Given the description of an element on the screen output the (x, y) to click on. 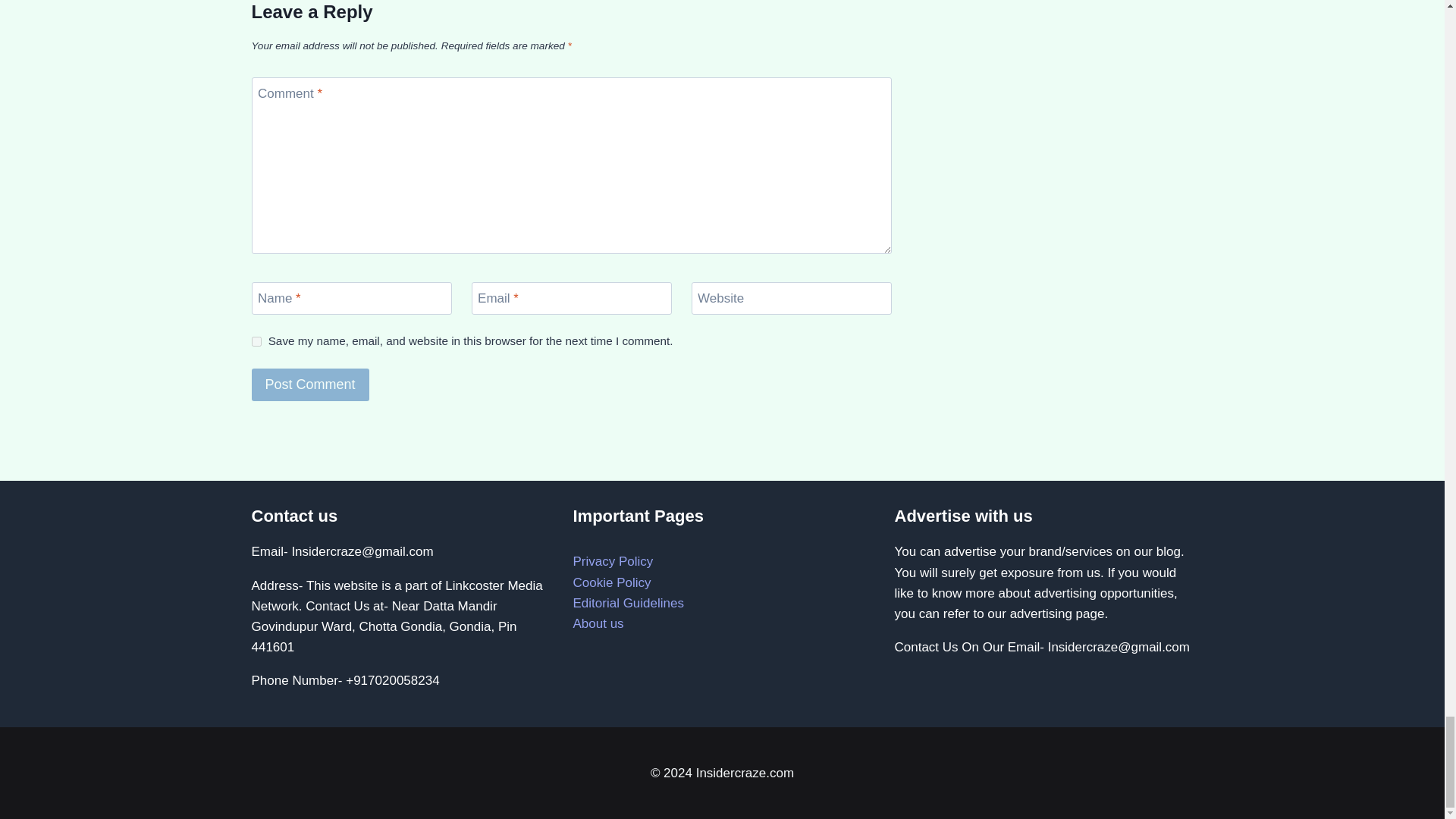
Post Comment (310, 384)
yes (256, 341)
